Given the description of an element on the screen output the (x, y) to click on. 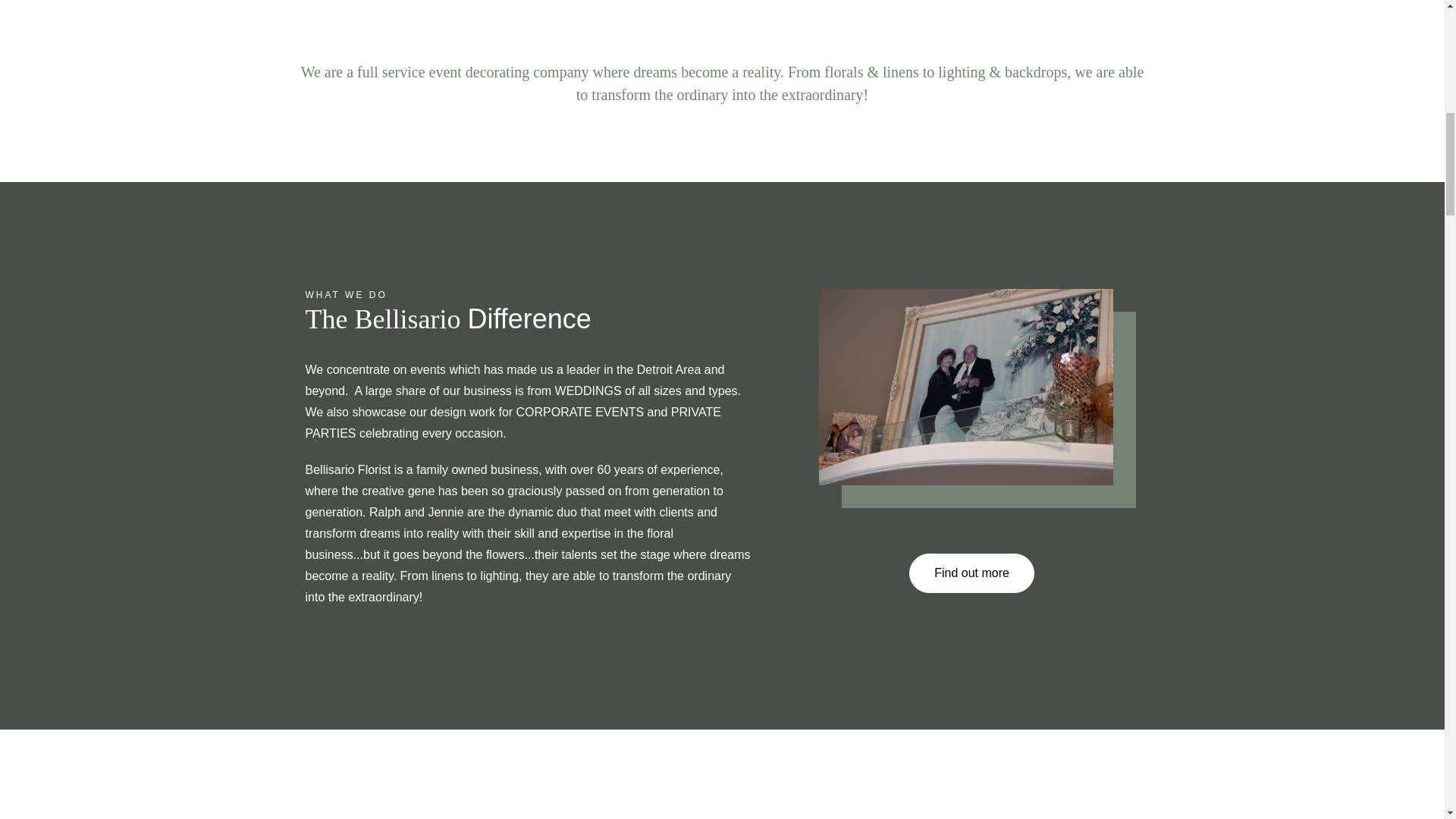
Find out more (970, 572)
